Given the description of an element on the screen output the (x, y) to click on. 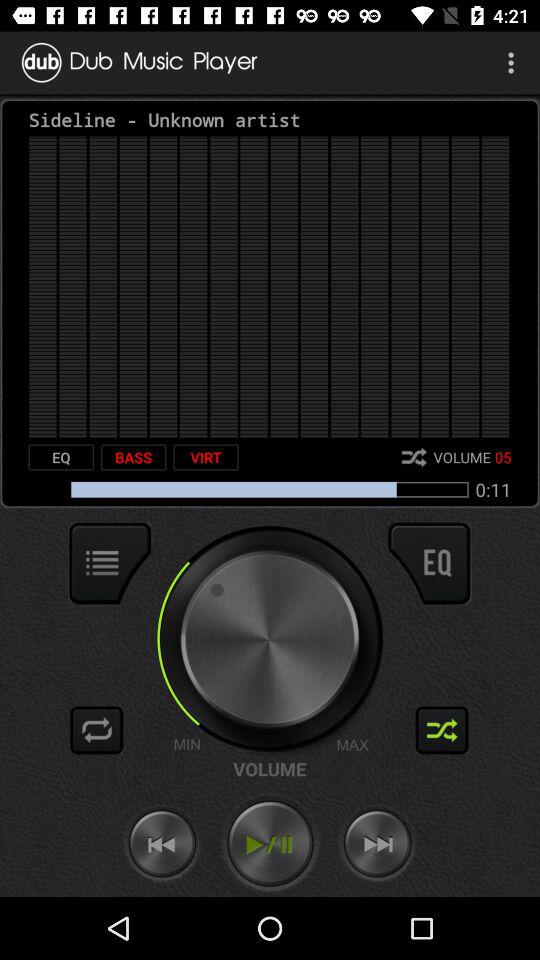
go to next song (377, 844)
